Given the description of an element on the screen output the (x, y) to click on. 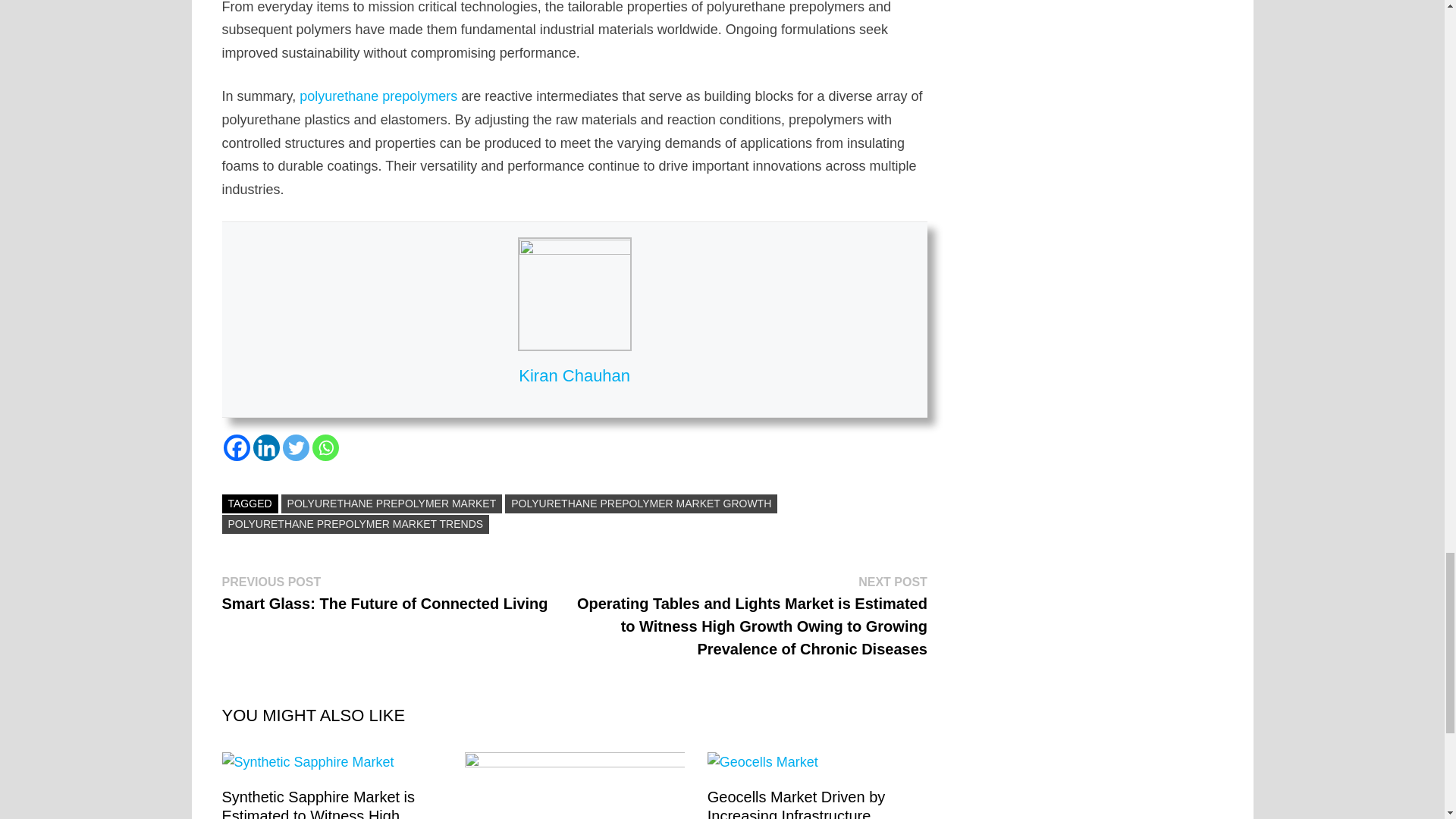
Facebook (235, 447)
Twitter (295, 447)
Linkedin (266, 447)
Whatsapp (326, 447)
